Given the description of an element on the screen output the (x, y) to click on. 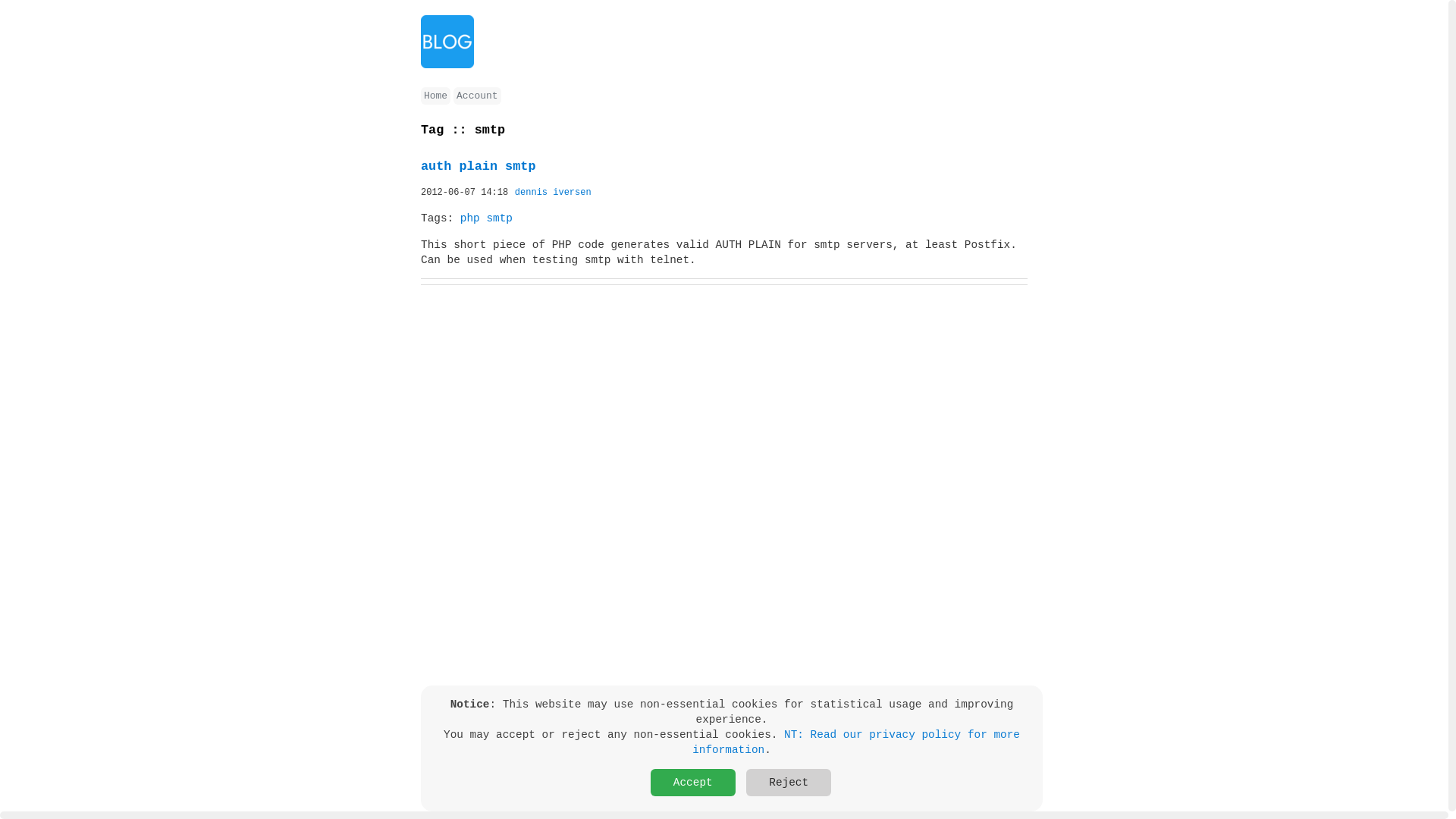
auth plain smtp Element type: text (477, 166)
Reject Element type: text (788, 782)
Home Element type: text (435, 95)
Blog Element type: hover (446, 65)
Blog Element type: hover (446, 41)
Accept Element type: text (692, 782)
dennis iversen Element type: text (552, 192)
php Element type: text (470, 218)
smtp Element type: text (499, 218)
Account Element type: text (476, 95)
NT: Read our privacy policy for more information Element type: text (855, 742)
